Given the description of an element on the screen output the (x, y) to click on. 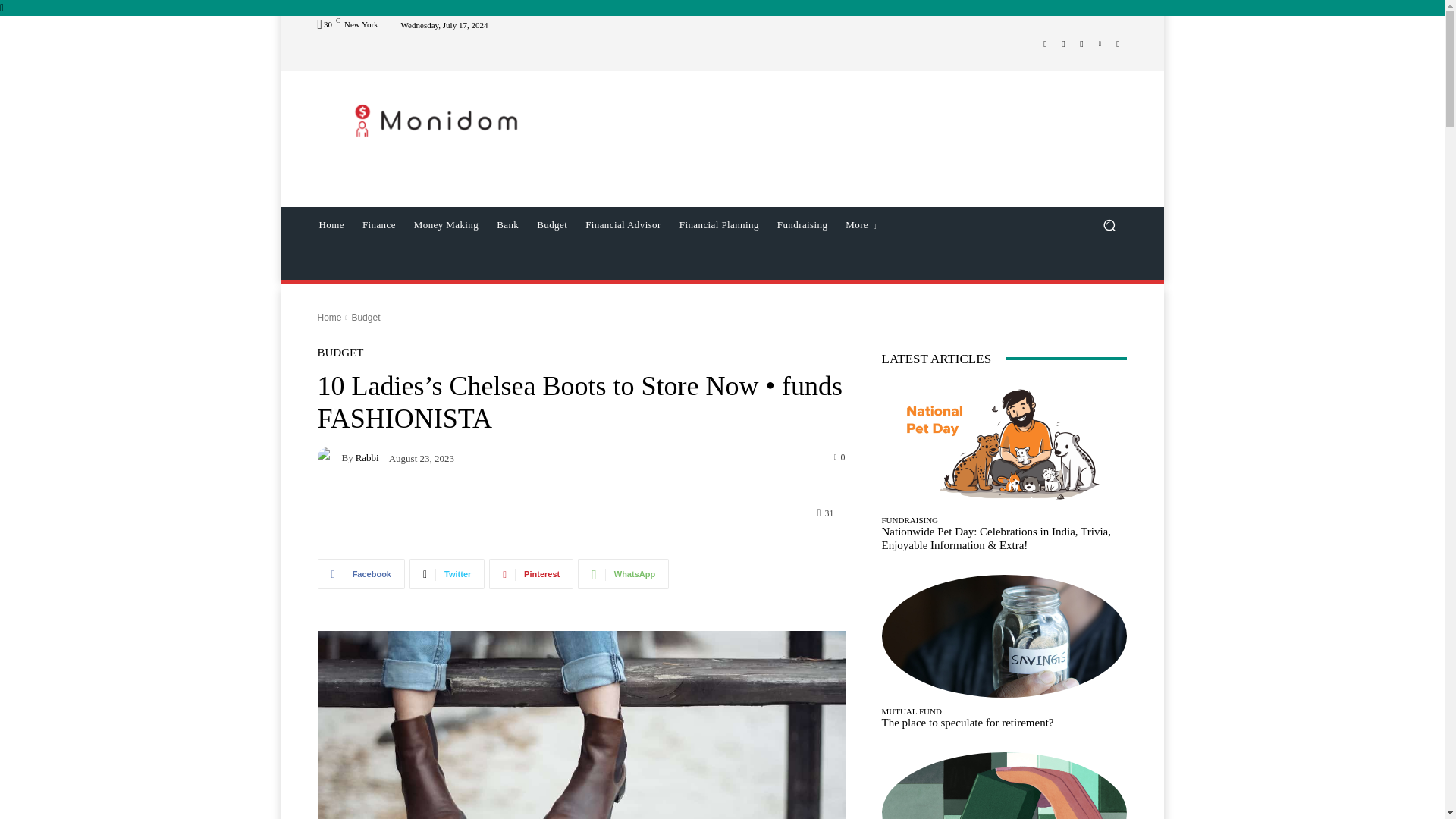
Facebook (360, 573)
Home (330, 225)
Fundraising (802, 225)
Instagram (1062, 44)
View all posts in Budget (365, 317)
Facebook (1044, 44)
Finance (378, 225)
Financial Advisor (622, 225)
Money Making (445, 225)
Bank (507, 225)
Budget (551, 225)
Twitter (446, 573)
Rabbi (328, 456)
Pinterest (531, 573)
Twitter (1080, 44)
